Given the description of an element on the screen output the (x, y) to click on. 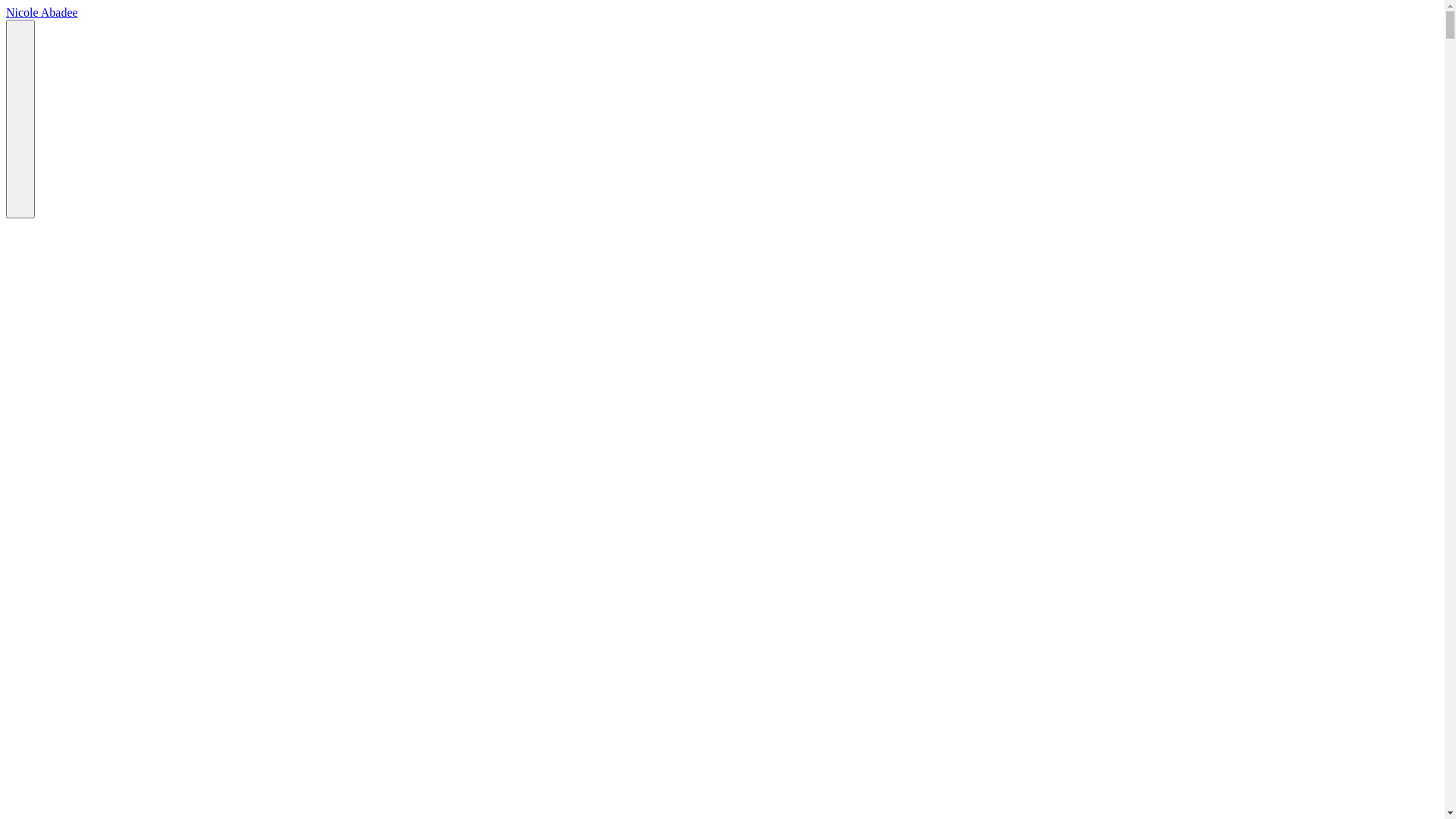
Nicole Abadee Element type: text (42, 12)
